Given the description of an element on the screen output the (x, y) to click on. 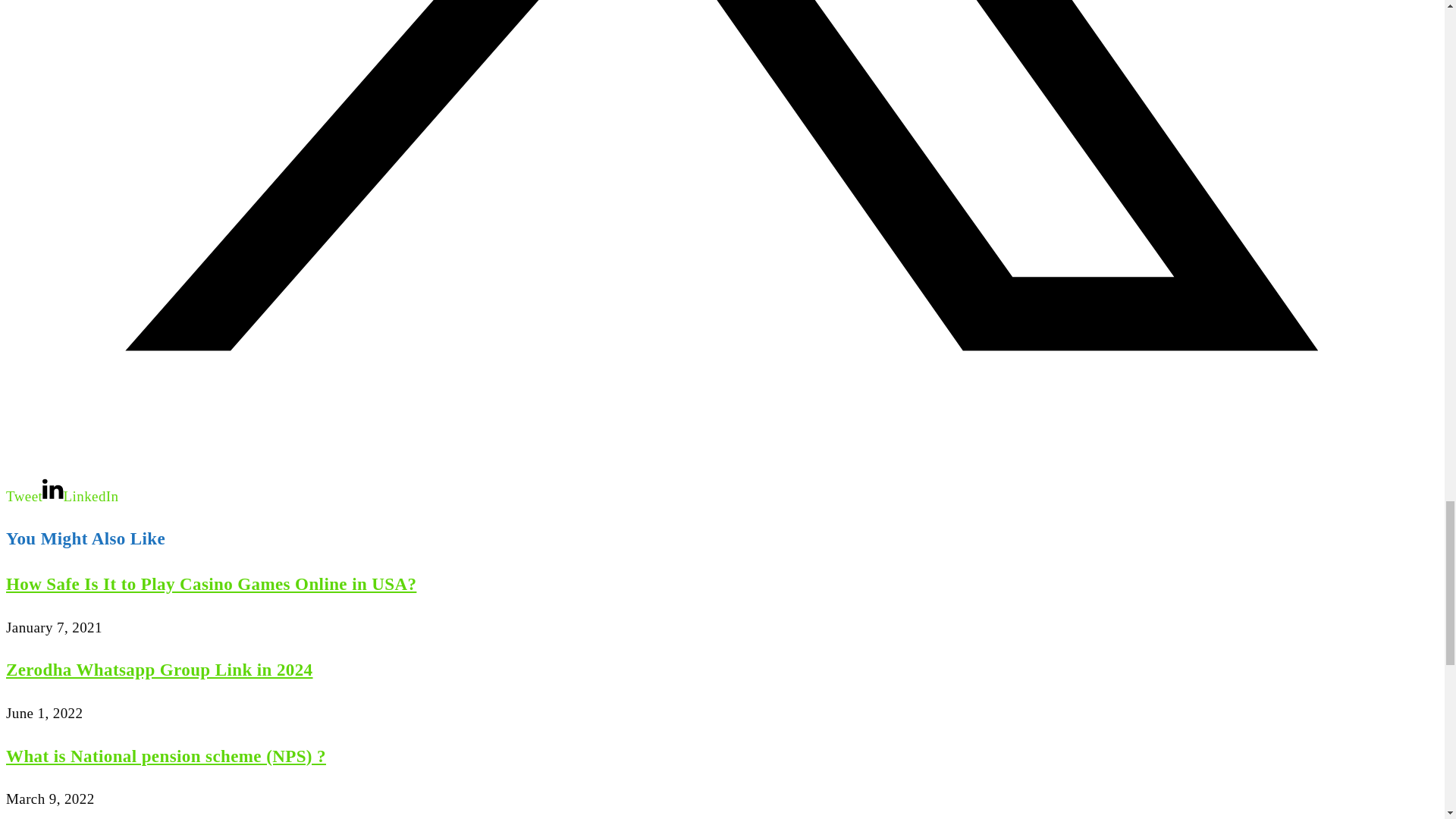
Share on LinkedIn (79, 496)
LinkedIn (79, 496)
How Safe Is It to Play Casino Games Online in USA? (210, 583)
Zerodha Whatsapp Group Link in 2024 (159, 669)
